Given the description of an element on the screen output the (x, y) to click on. 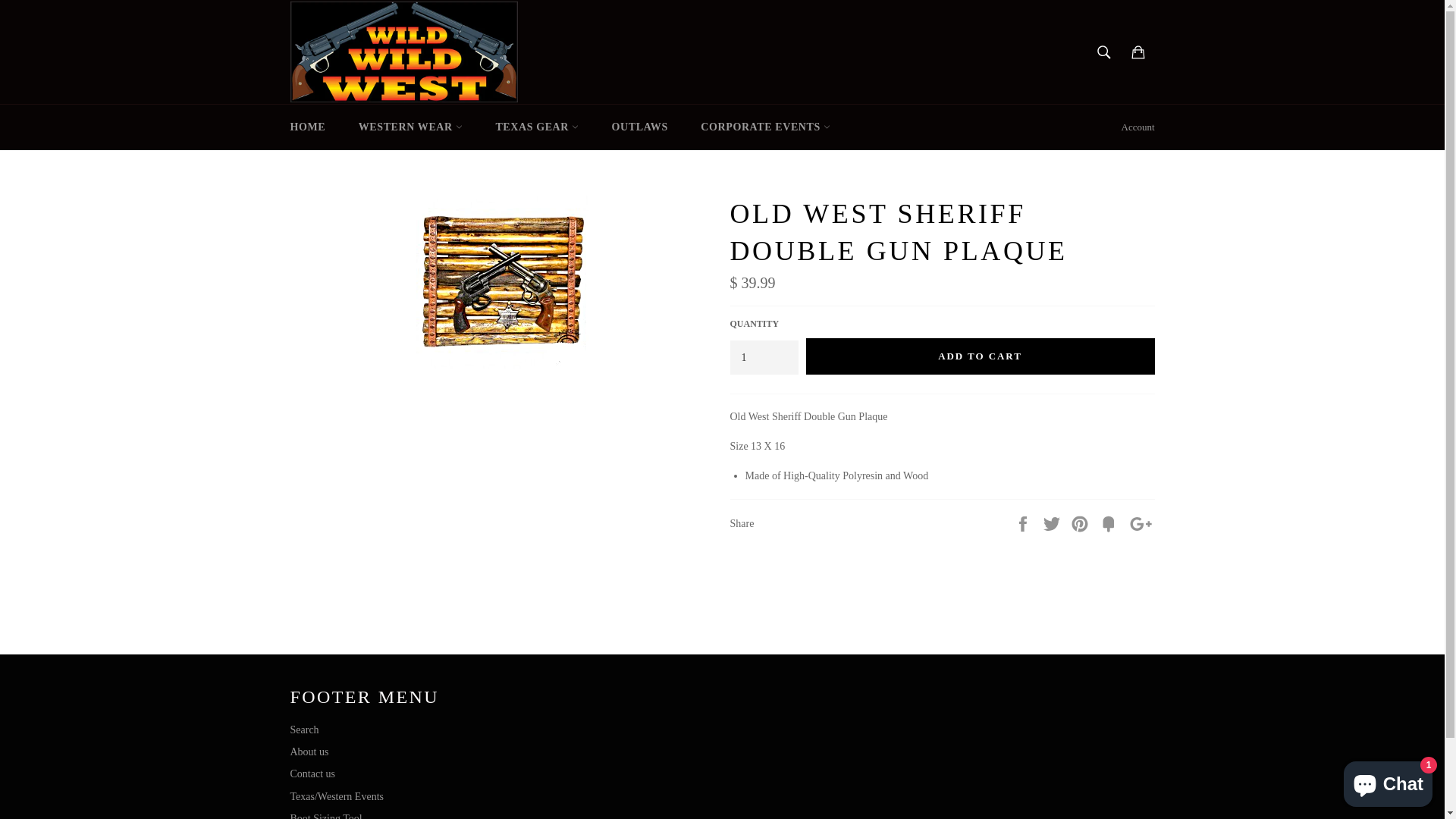
Fancy Element type: text (1109, 522)
+1 Element type: text (1140, 522)
Texas/Western Events Element type: text (335, 796)
Cart Element type: text (1138, 52)
TEXAS GEAR Element type: text (536, 126)
HOME Element type: text (307, 126)
Share Element type: text (1024, 522)
Contact us Element type: text (312, 773)
ADD TO CART Element type: text (979, 356)
CORPORATE EVENTS Element type: text (765, 126)
Search Element type: text (1104, 52)
Shopify online store chat Element type: hover (1388, 780)
Search Element type: text (303, 729)
OUTLAWS Element type: text (639, 126)
Tweet Element type: text (1052, 522)
Account Element type: text (1137, 127)
WESTERN WEAR Element type: text (410, 126)
Pin it Element type: text (1081, 522)
About us Element type: text (308, 751)
